Given the description of an element on the screen output the (x, y) to click on. 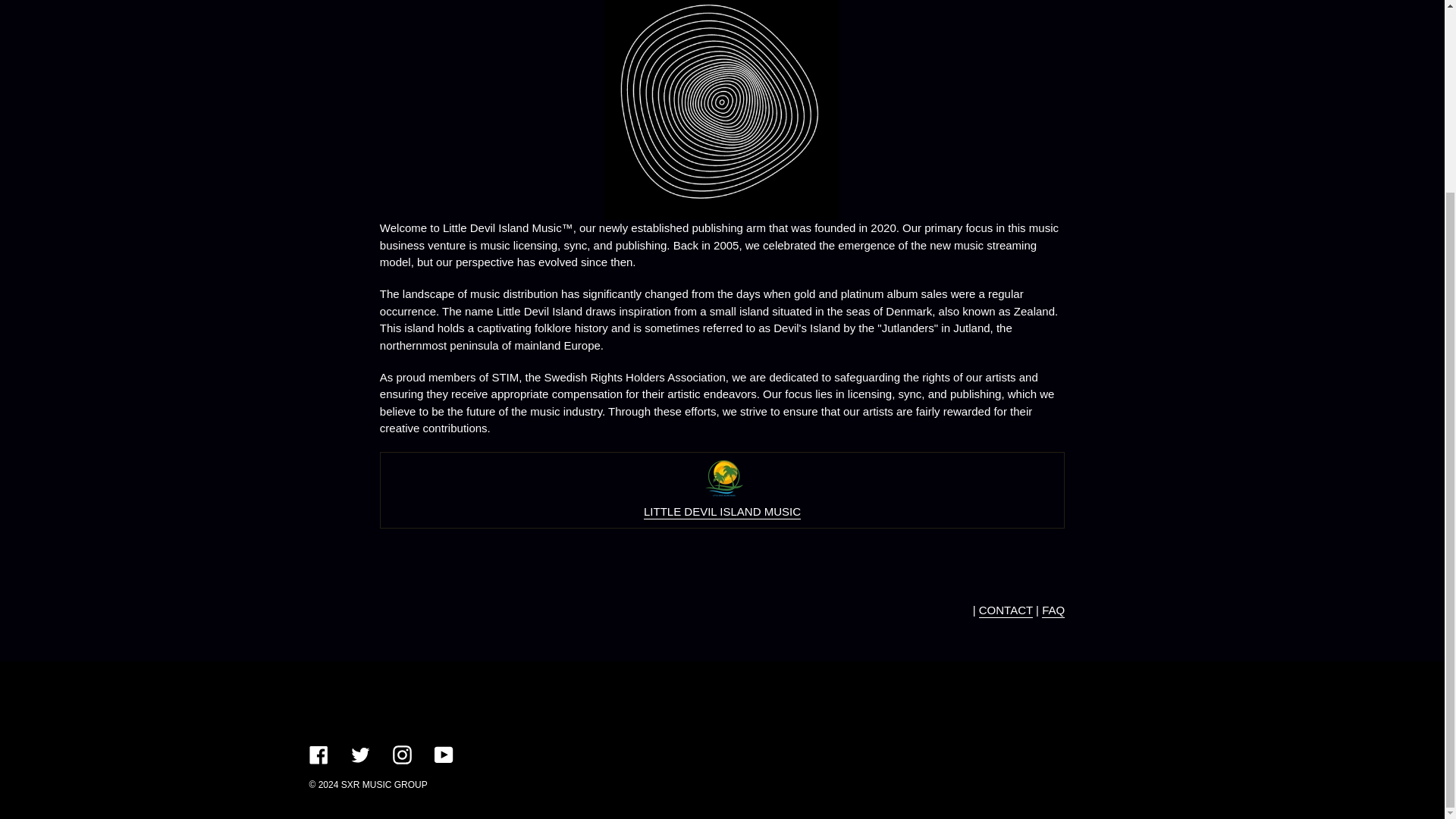
LITTLE DEVIL ISLAND MUSIC (721, 512)
  LITTLE DEVIL ISLAND MUSIC (722, 500)
Music Publishing Notes (1053, 610)
